Given the description of an element on the screen output the (x, y) to click on. 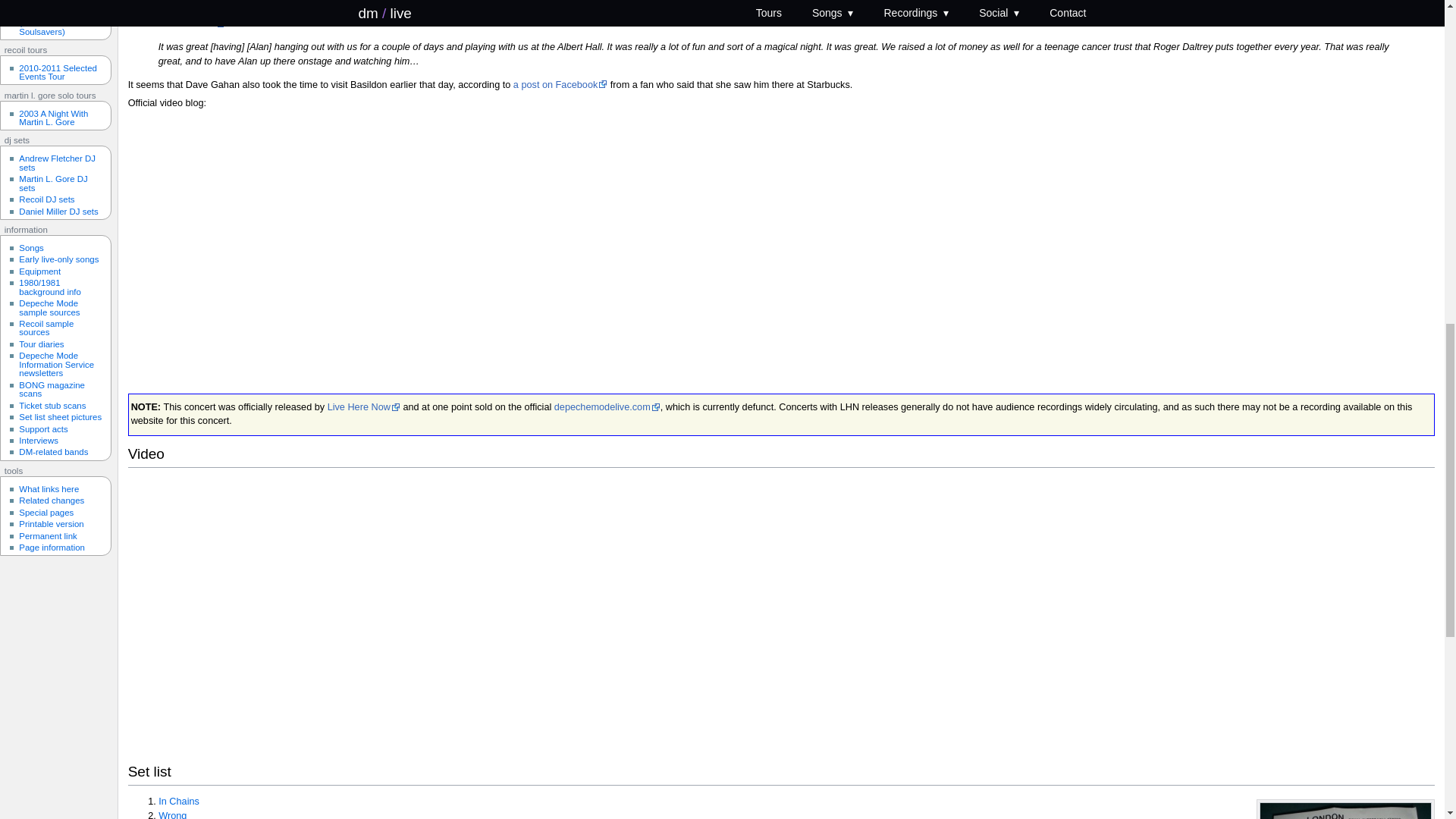
Wrong (172, 814)
In Chains (178, 801)
